Given the description of an element on the screen output the (x, y) to click on. 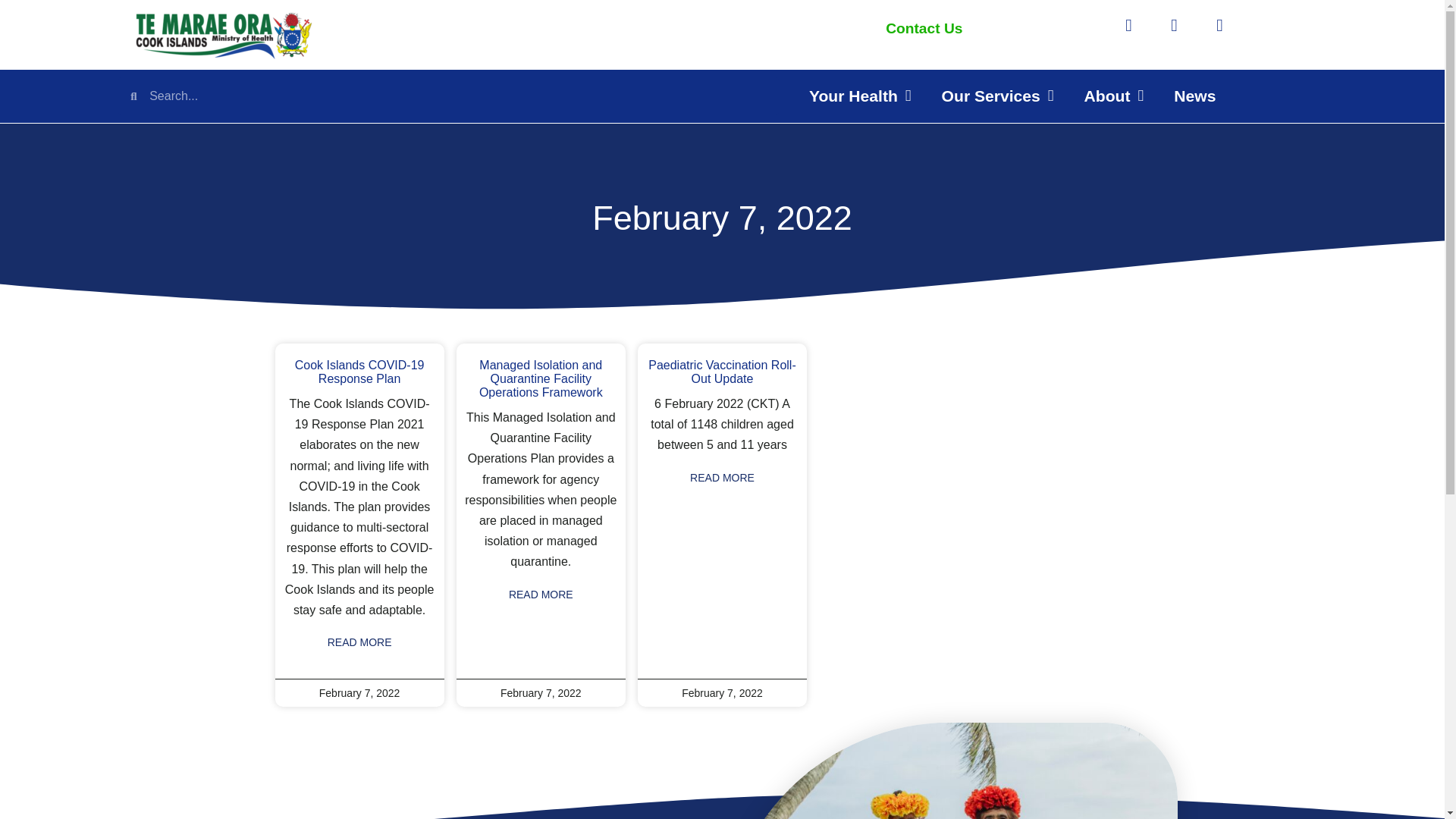
Skip to content (11, 31)
Contact Us (923, 28)
About (1113, 95)
Your Health (859, 95)
Our Services (997, 95)
News (1194, 95)
